Given the description of an element on the screen output the (x, y) to click on. 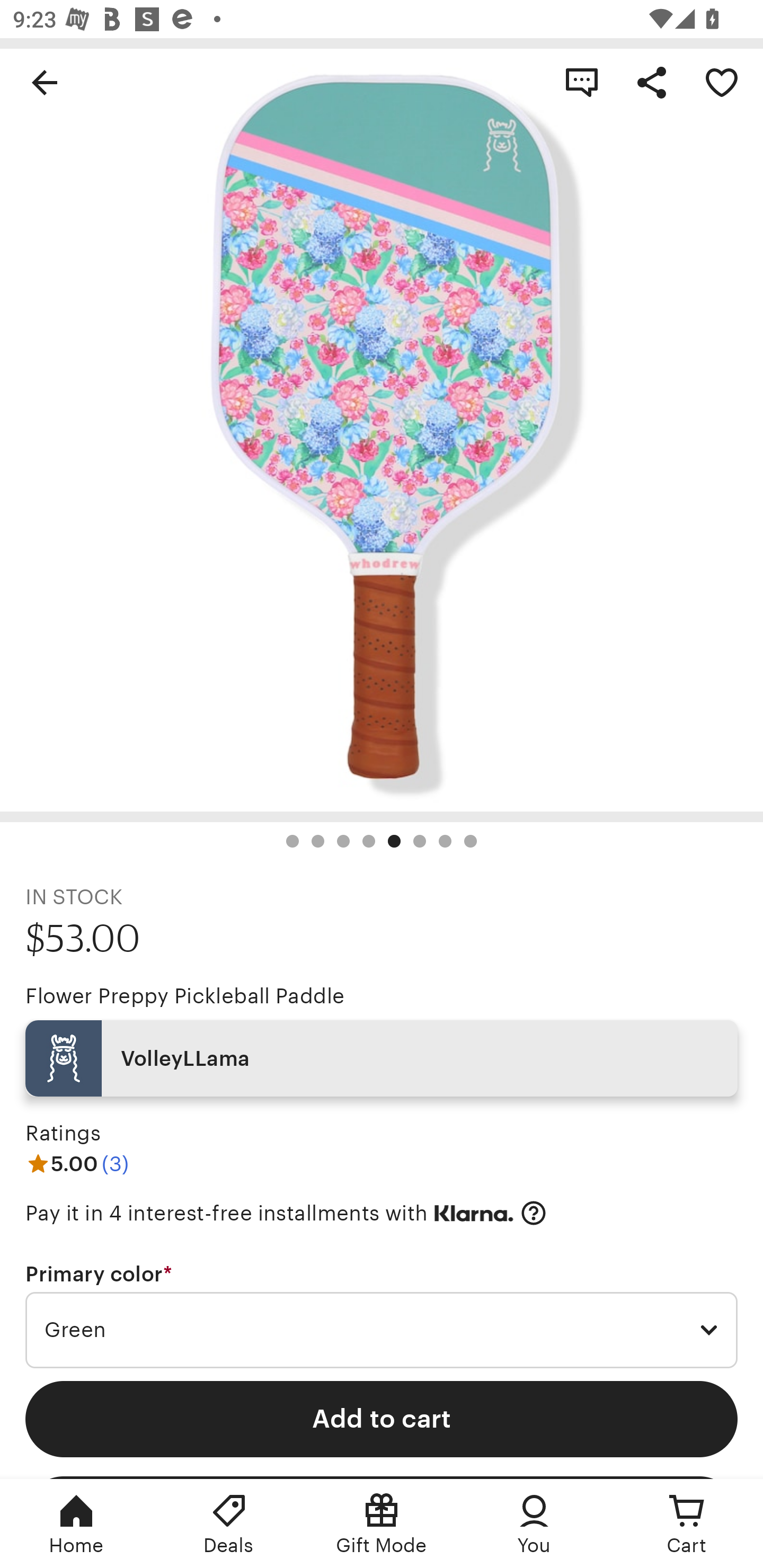
Navigate up (44, 81)
Contact shop (581, 81)
Share (651, 81)
Flower Preppy Pickleball Paddle (184, 996)
VolleyLLama (381, 1058)
Ratings (62, 1133)
5.00 (3) (76, 1163)
Primary color * Required Green (381, 1315)
Green (381, 1330)
Add to cart (381, 1418)
Deals (228, 1523)
Gift Mode (381, 1523)
You (533, 1523)
Cart (686, 1523)
